Given the description of an element on the screen output the (x, y) to click on. 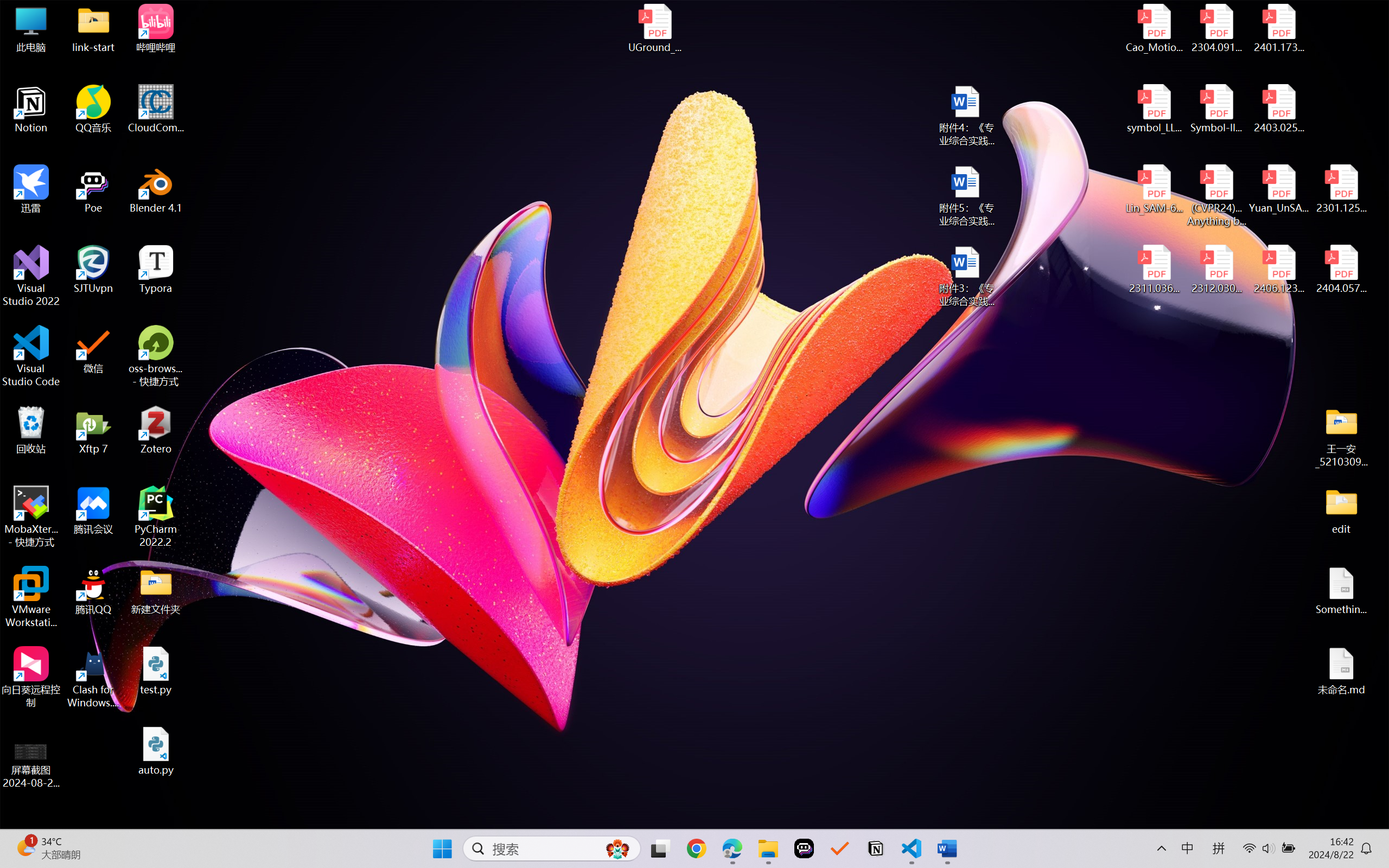
(CVPR24)Matching Anything by Segmenting Anything.pdf (1216, 195)
symbol_LLM.pdf (1154, 109)
Blender 4.1 (156, 189)
